Given the description of an element on the screen output the (x, y) to click on. 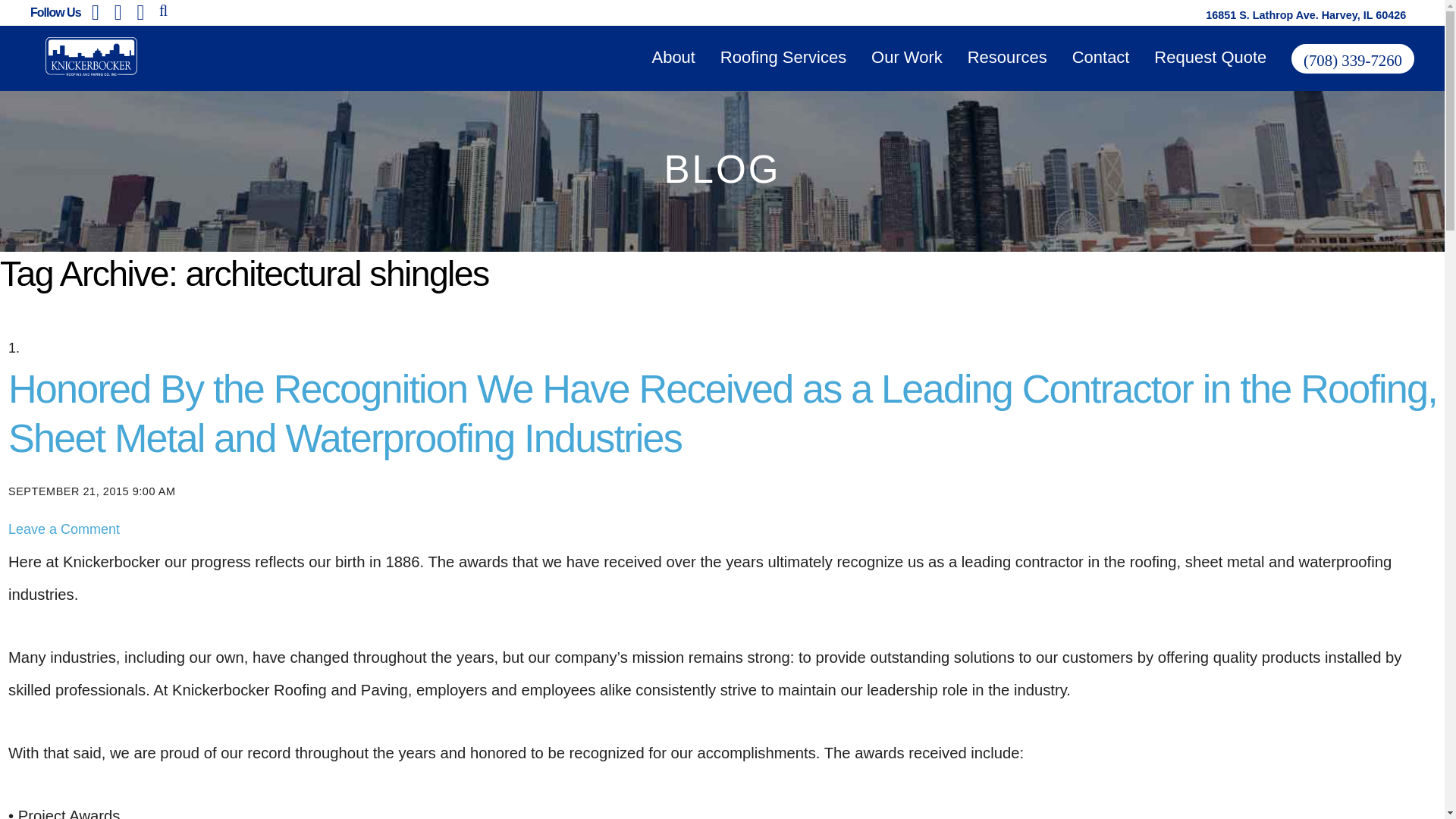
Request Quote (1210, 58)
Our Work (906, 57)
Roofing Services (783, 57)
Contact (1099, 58)
About (673, 57)
Resources (1006, 57)
